Given the description of an element on the screen output the (x, y) to click on. 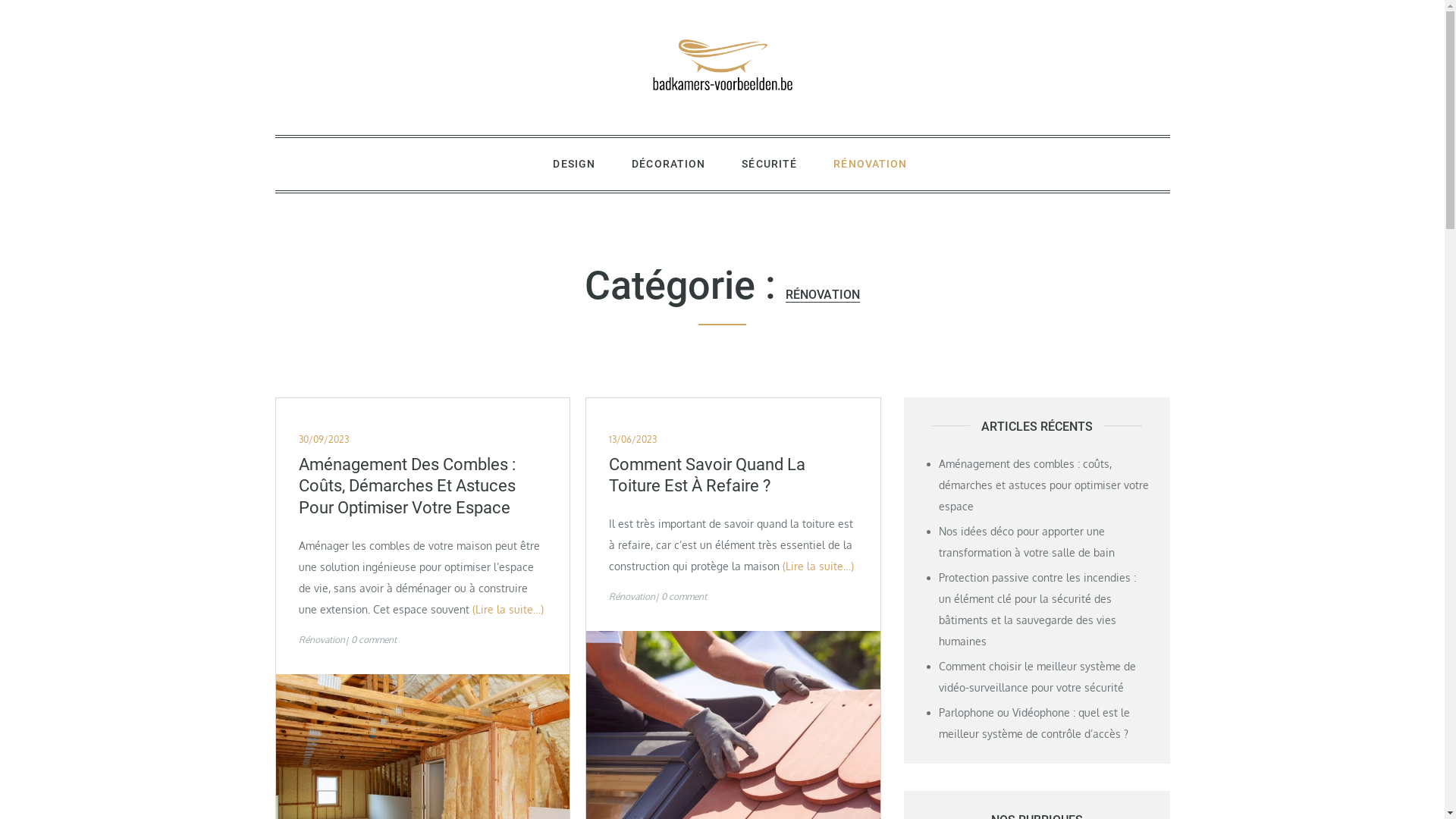
badkamers-voorbeelden.be Element type: text (422, 128)
0 comment Element type: text (683, 596)
13/06/2023 Element type: text (632, 439)
DESIGN Element type: text (573, 164)
30/09/2023 Element type: text (323, 439)
0 comment Element type: text (372, 639)
